Given the description of an element on the screen output the (x, y) to click on. 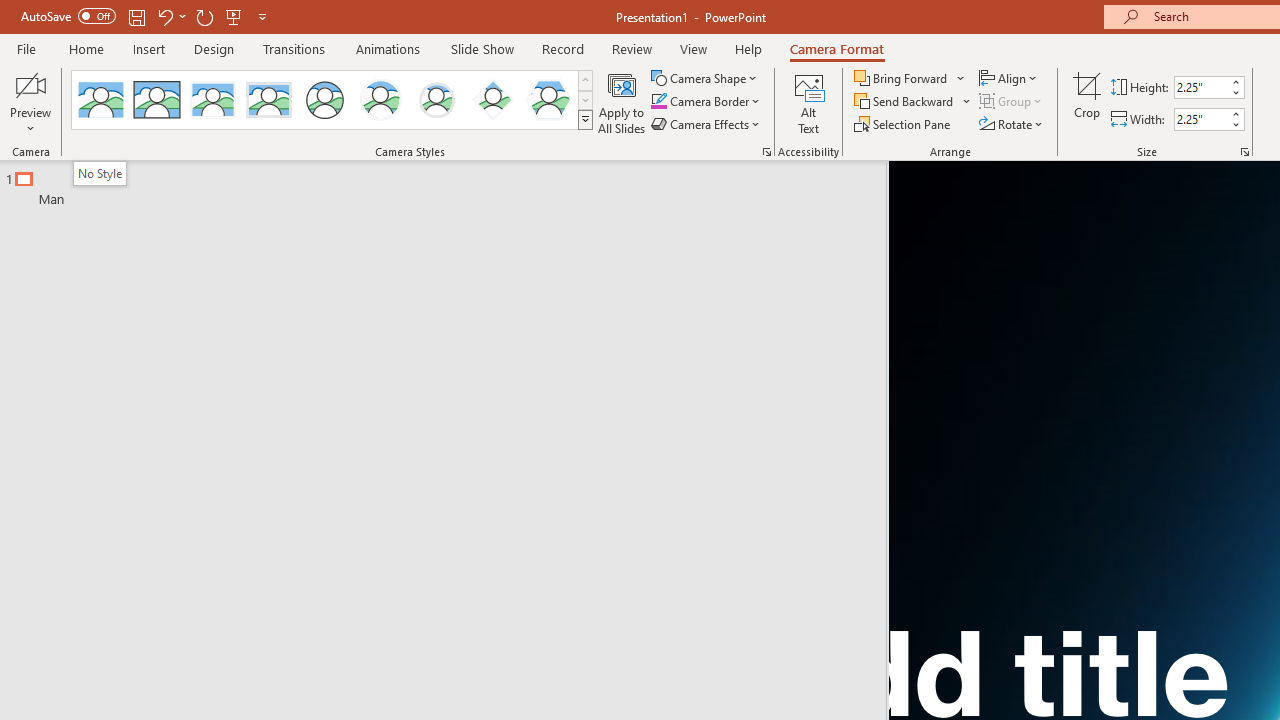
Camera Format (836, 48)
Enable Camera Preview (30, 84)
Alt Text (808, 102)
Soft Edge Circle (436, 100)
Size and Position... (1244, 151)
Cameo Height (1201, 87)
Apply to All Slides (621, 102)
